Given the description of an element on the screen output the (x, y) to click on. 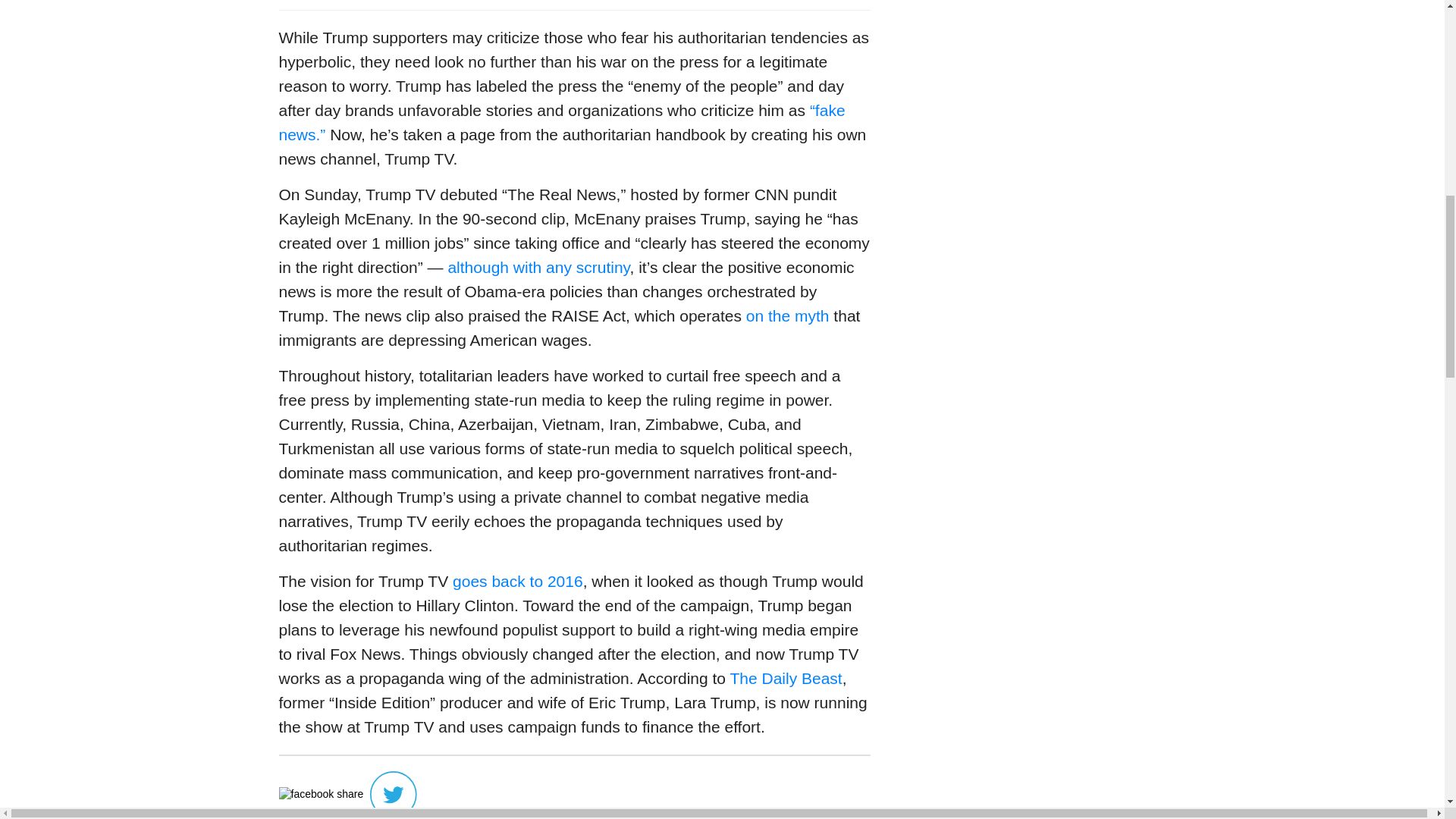
goes back to 2016 (517, 580)
although with any scrutiny (537, 267)
on the myth (787, 315)
The Daily Beast (785, 678)
